Given the description of an element on the screen output the (x, y) to click on. 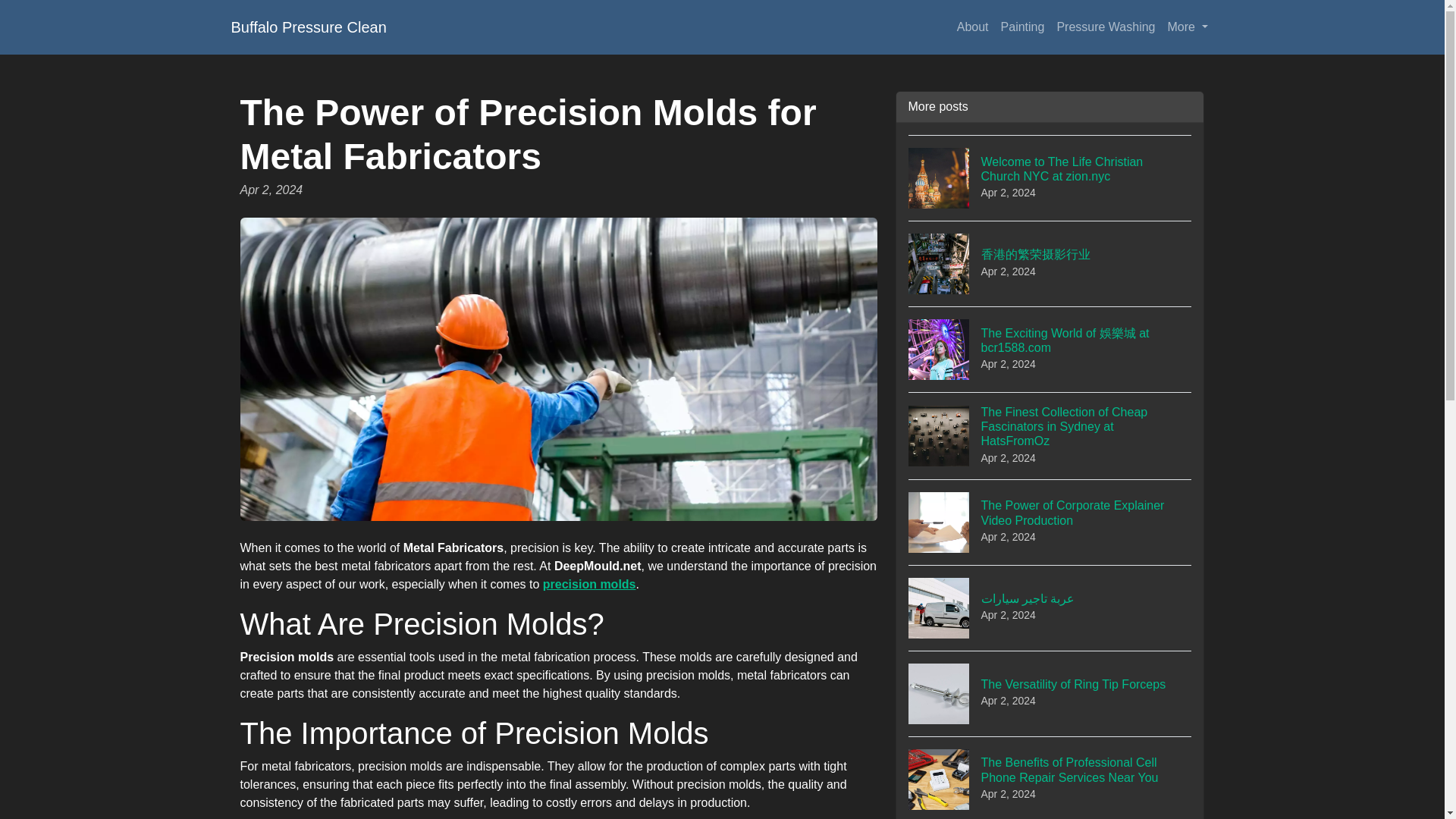
More (1187, 27)
Painting (1022, 27)
Buffalo Pressure Clean (307, 27)
Pressure Washing (1050, 693)
precision molds (1104, 27)
About (589, 584)
